Given the description of an element on the screen output the (x, y) to click on. 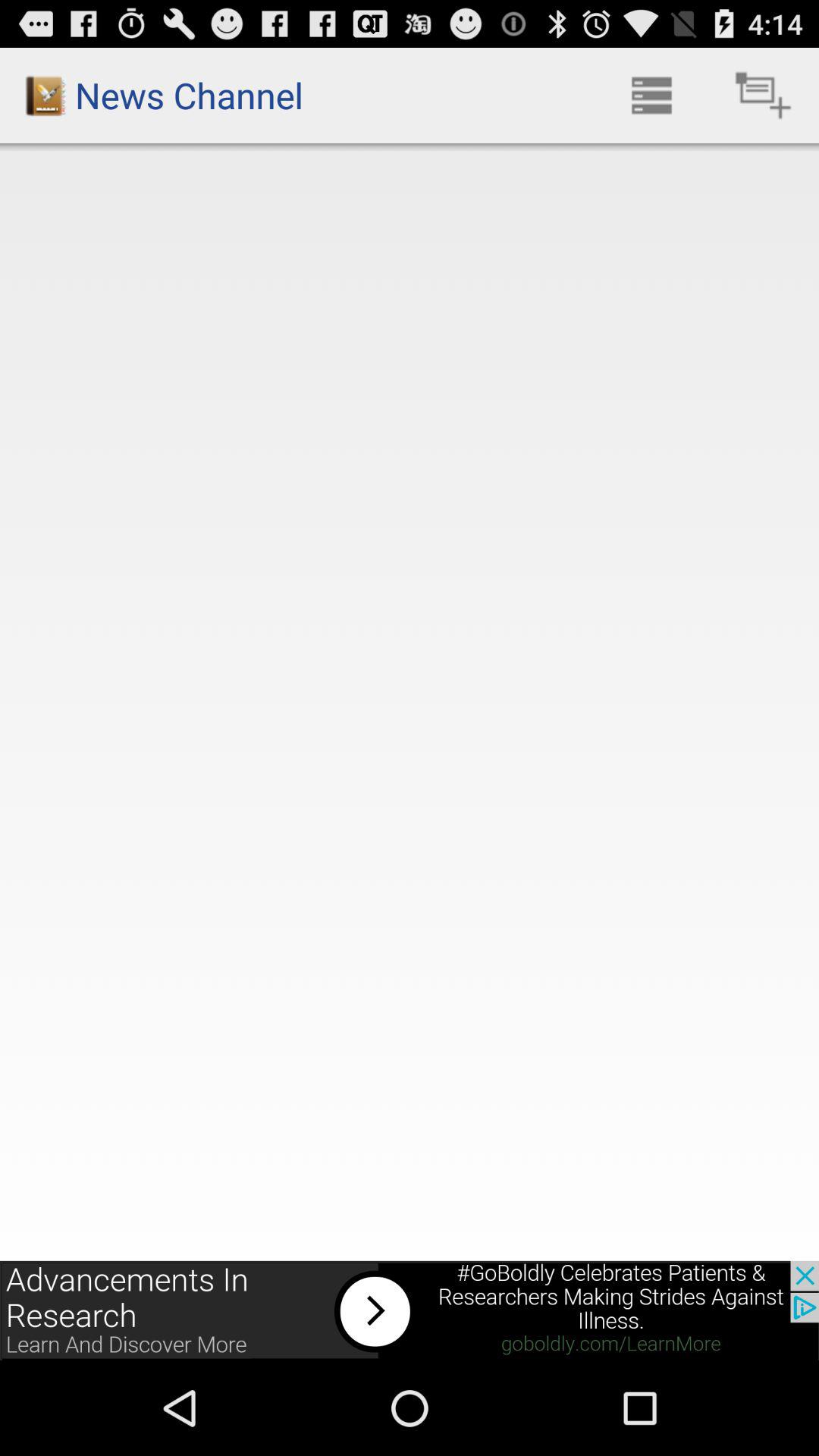
open advertisement (409, 1310)
